Given the description of an element on the screen output the (x, y) to click on. 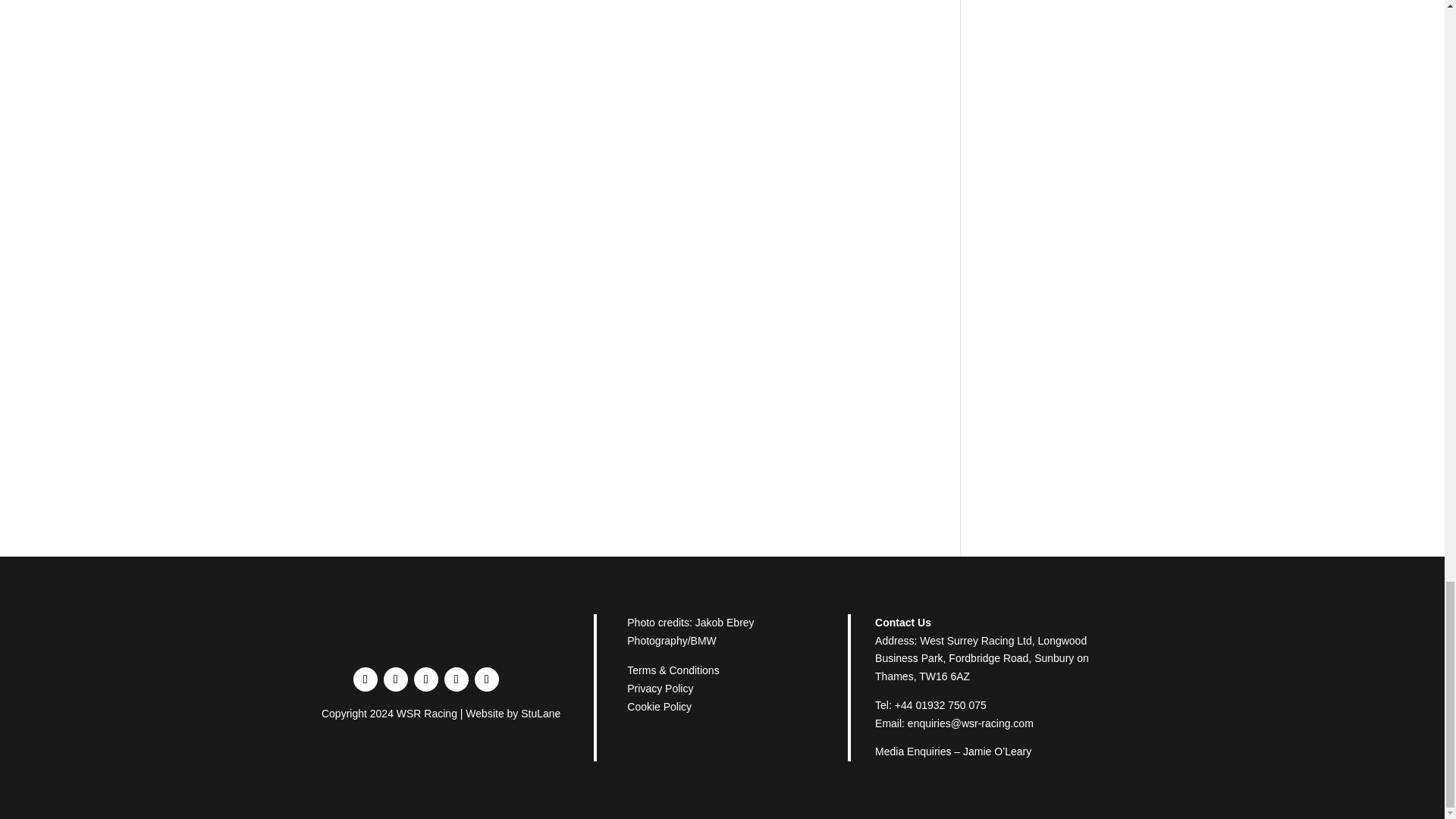
Cookie Policy (659, 706)
Follow on Youtube (486, 679)
Privacy Policy (660, 688)
Follow on X (425, 679)
StuLane (540, 713)
Follow on LinkedIn (395, 679)
Follow on  (517, 679)
Jakob Ebrey (724, 622)
Follow on Instagram (456, 679)
Follow on Facebook (365, 679)
logo-white (440, 637)
